Given the description of an element on the screen output the (x, y) to click on. 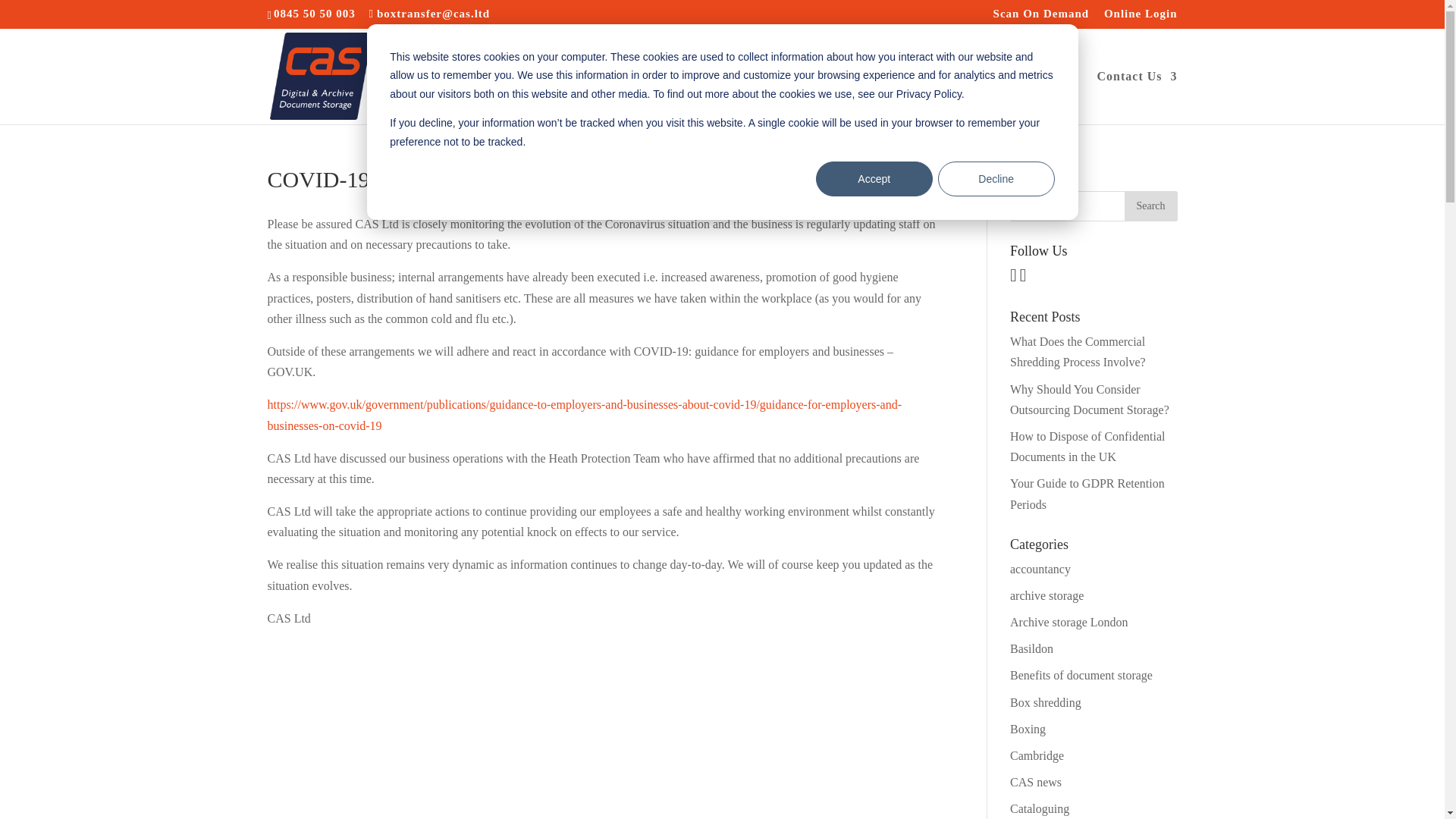
Scan On Demand (1040, 17)
Online Login (1140, 17)
Industries (992, 97)
Document Storage (572, 97)
